Given the description of an element on the screen output the (x, y) to click on. 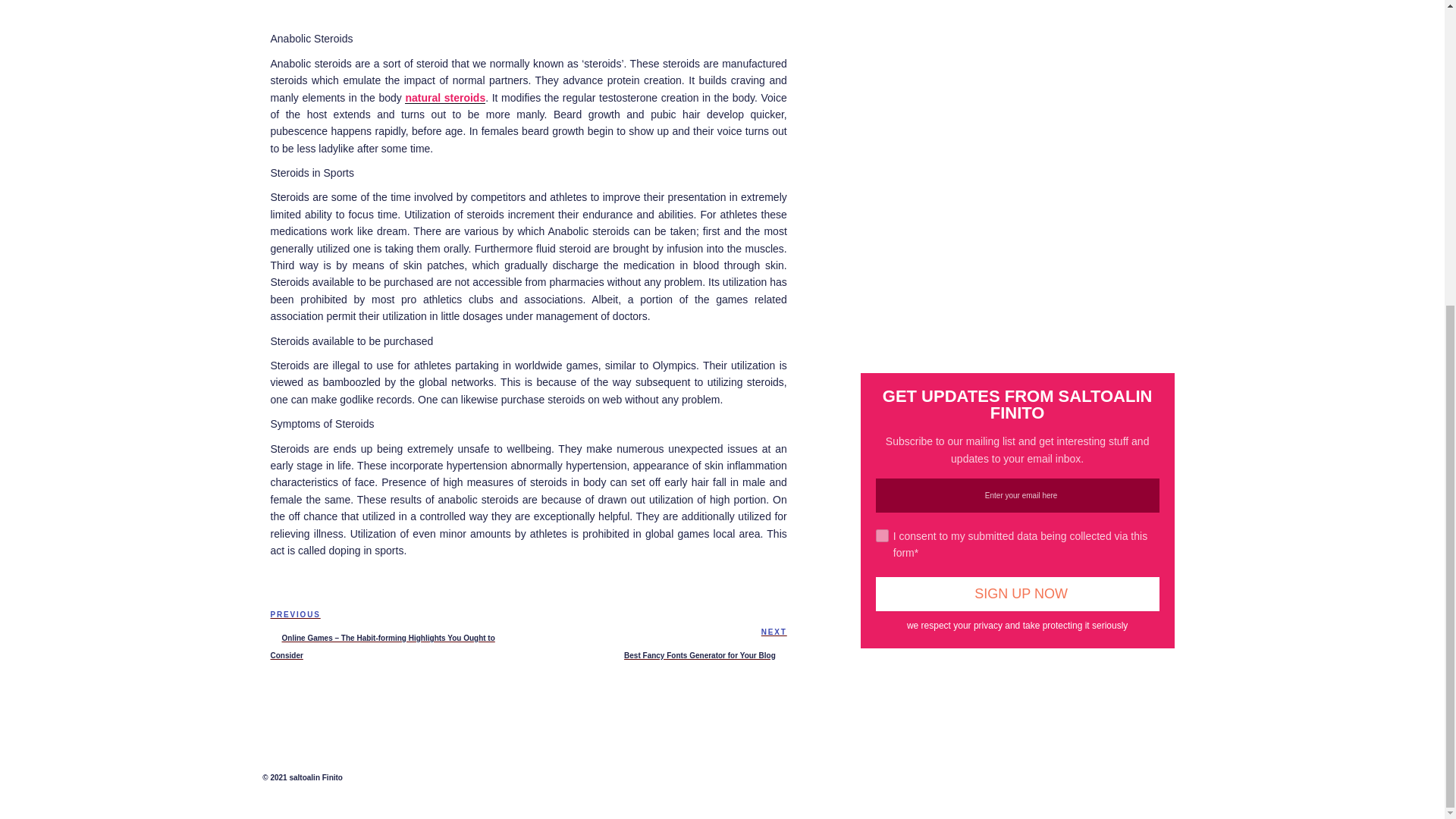
Sign Up Now (1017, 593)
natural steroids (444, 97)
Sign Up Now (657, 643)
on (1017, 593)
